Given the description of an element on the screen output the (x, y) to click on. 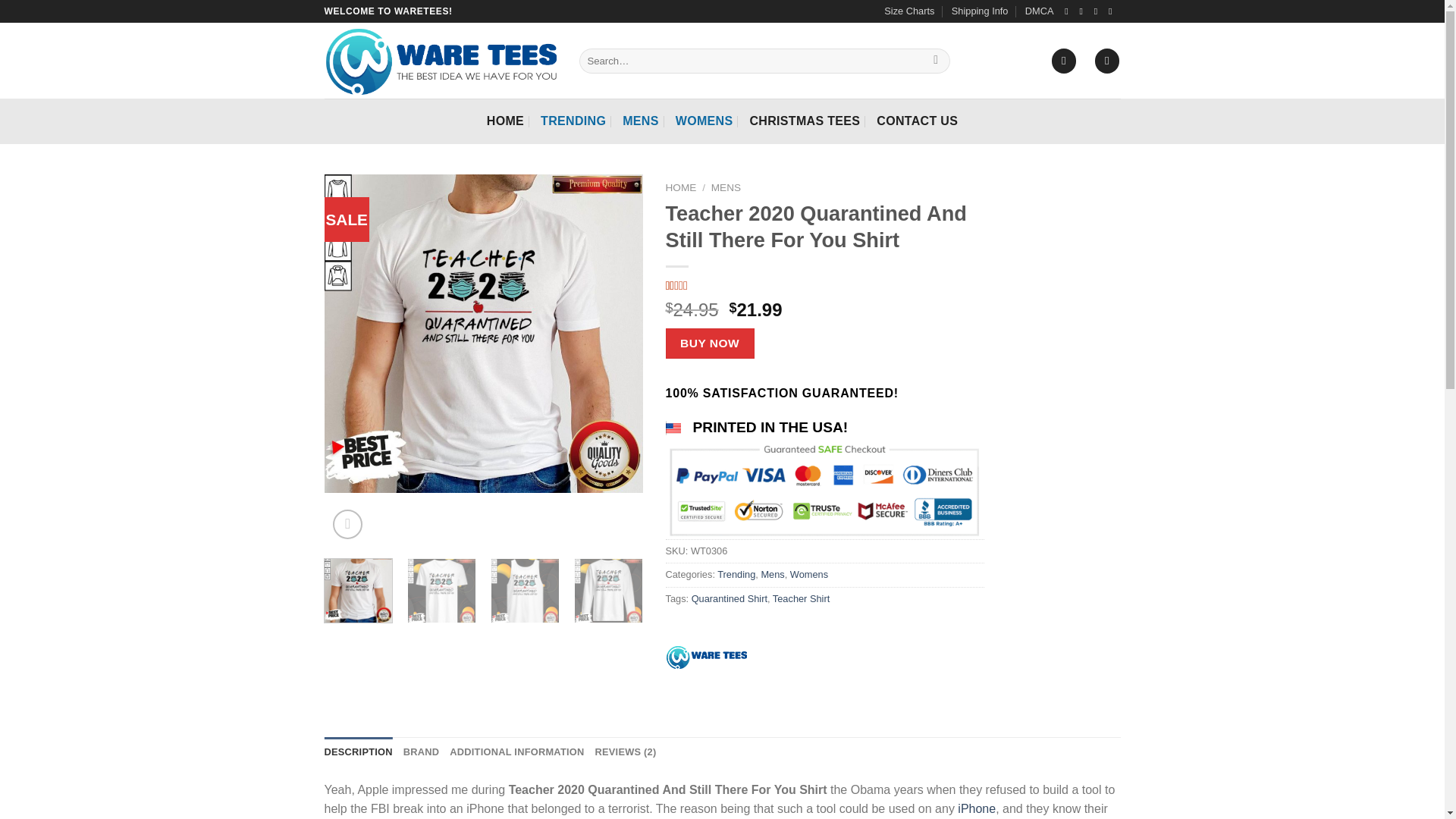
WARE TEES (705, 656)
TRENDING (572, 121)
MENS (641, 121)
Teacher 2020 Quarantined And Still There For You Shirt (483, 333)
HOME (505, 121)
Shipping Info (980, 11)
HOME (681, 187)
DMCA (1039, 11)
Follow on Facebook (1069, 10)
Follow on Instagram (1084, 10)
Zoom (347, 523)
MENS (726, 187)
Send us an email (1113, 10)
CHRISTMAS TEES (804, 121)
Size Charts (908, 11)
